Given the description of an element on the screen output the (x, y) to click on. 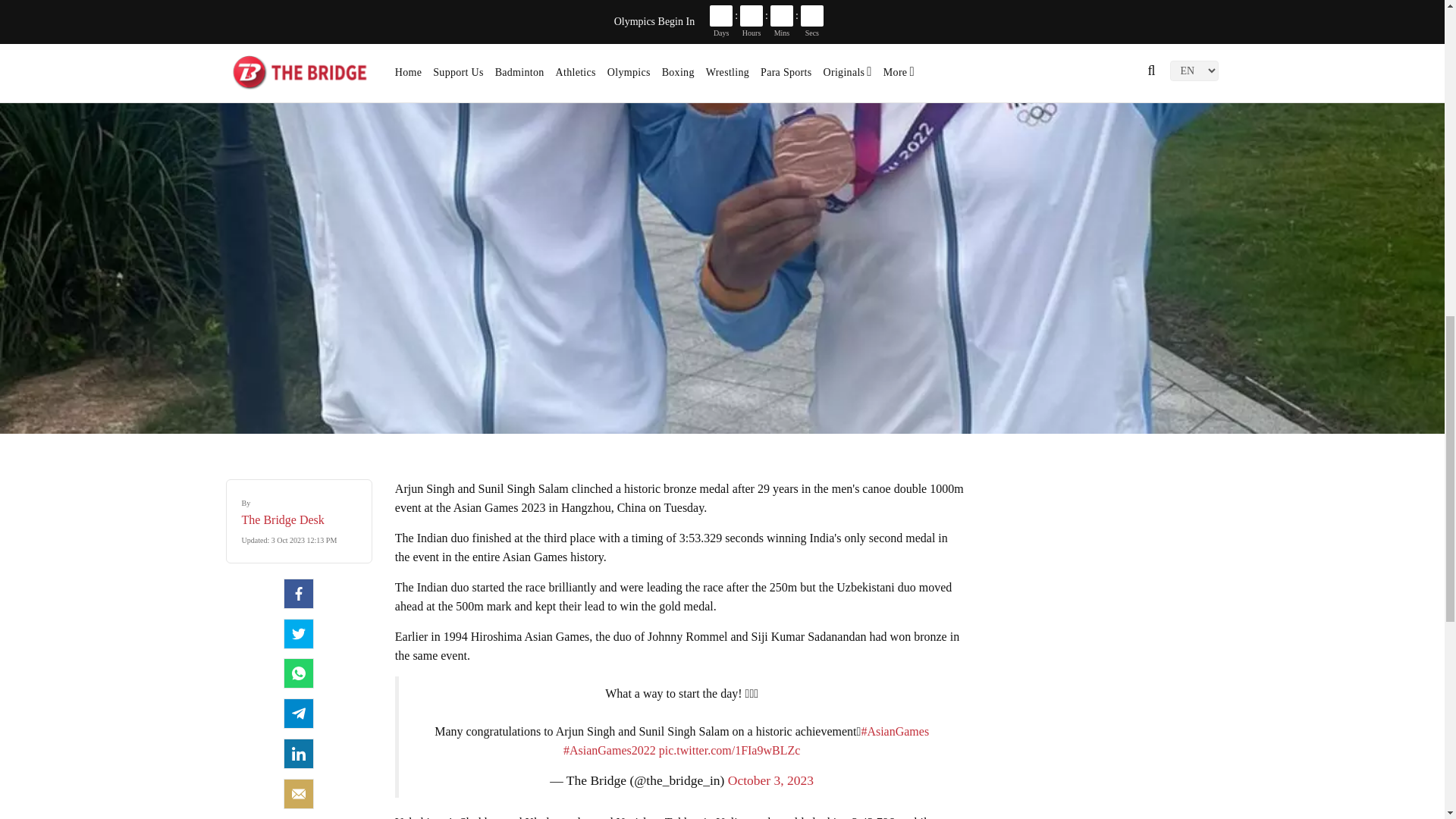
LinkedIn (298, 753)
Share by Email (298, 793)
